Given the description of an element on the screen output the (x, y) to click on. 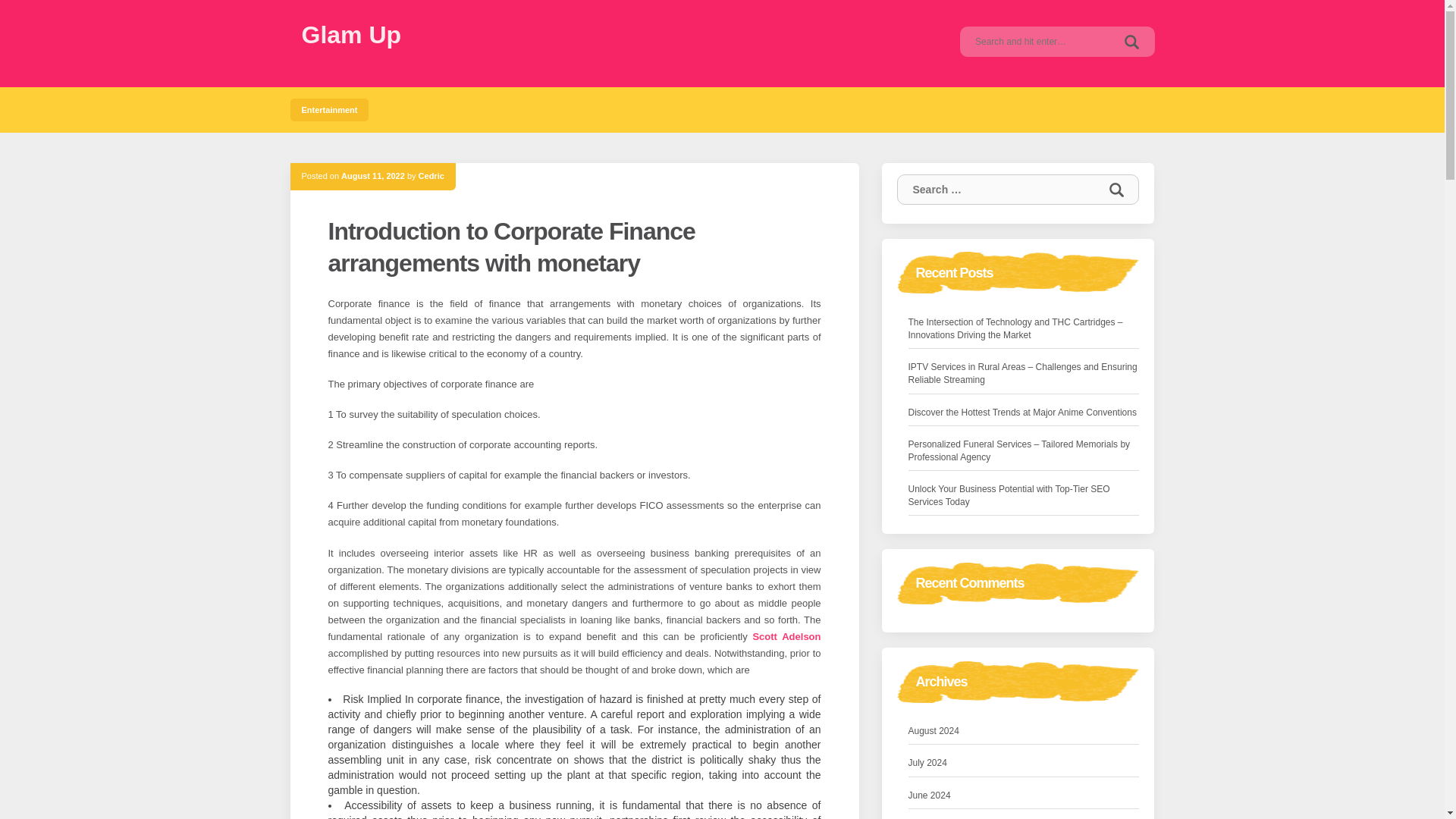
July 2024 (927, 763)
August 11, 2022 (372, 175)
Glam Up (351, 34)
Search (1131, 41)
Search (1131, 41)
Cedric (431, 175)
June 2024 (929, 795)
Entertainment (328, 109)
Search (1131, 41)
